Given the description of an element on the screen output the (x, y) to click on. 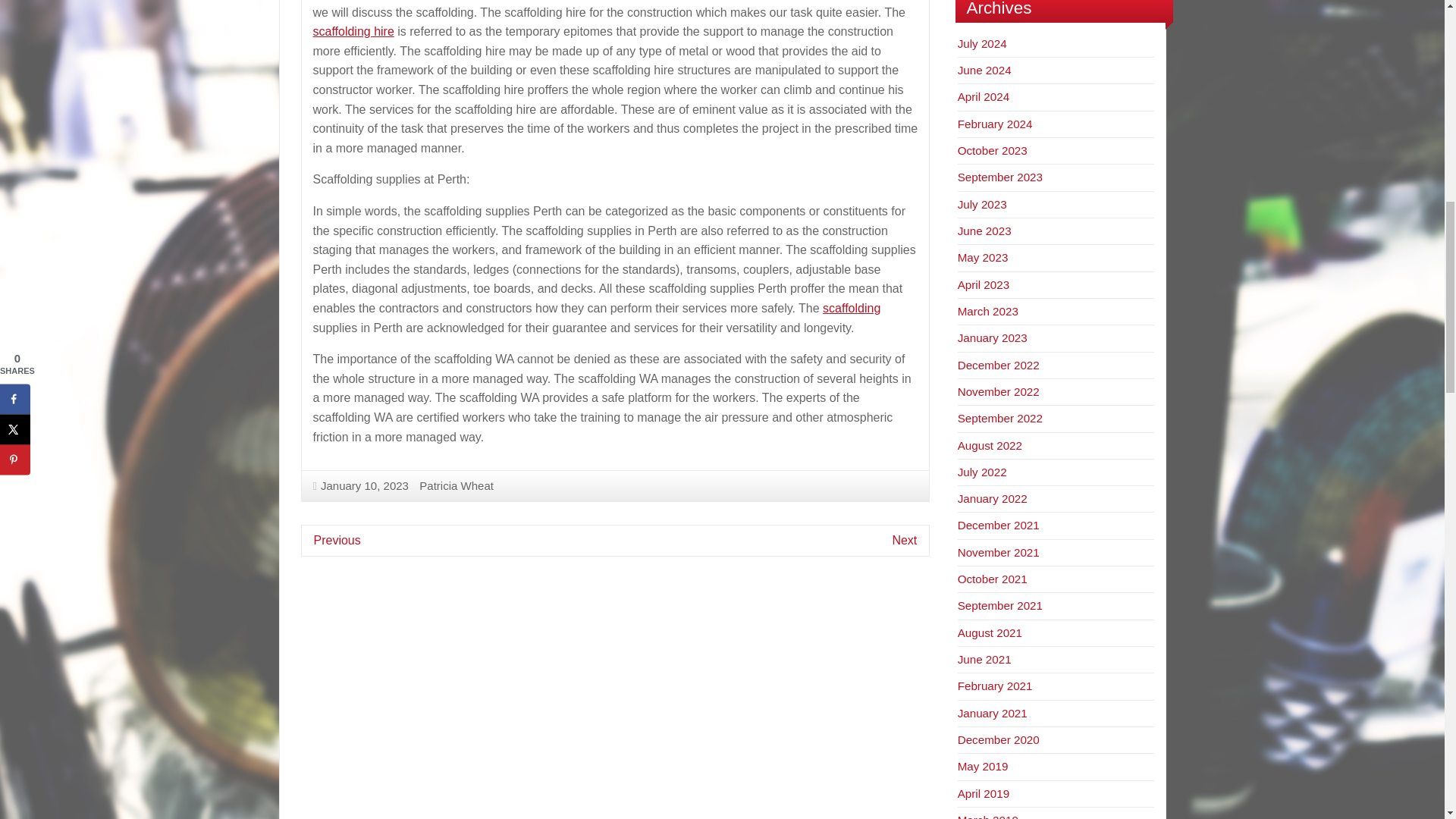
March 2023 (987, 310)
January 2022 (992, 498)
October 2023 (992, 150)
December 2021 (998, 524)
scaffolding hire (353, 31)
scaffolding (851, 308)
July 2023 (982, 204)
September 2021 (1000, 604)
September 2022 (1000, 418)
December 2022 (998, 364)
April 2023 (983, 284)
July 2022 (982, 472)
Patricia Wheat (456, 485)
November 2022 (998, 391)
November 2021 (998, 552)
